Given the description of an element on the screen output the (x, y) to click on. 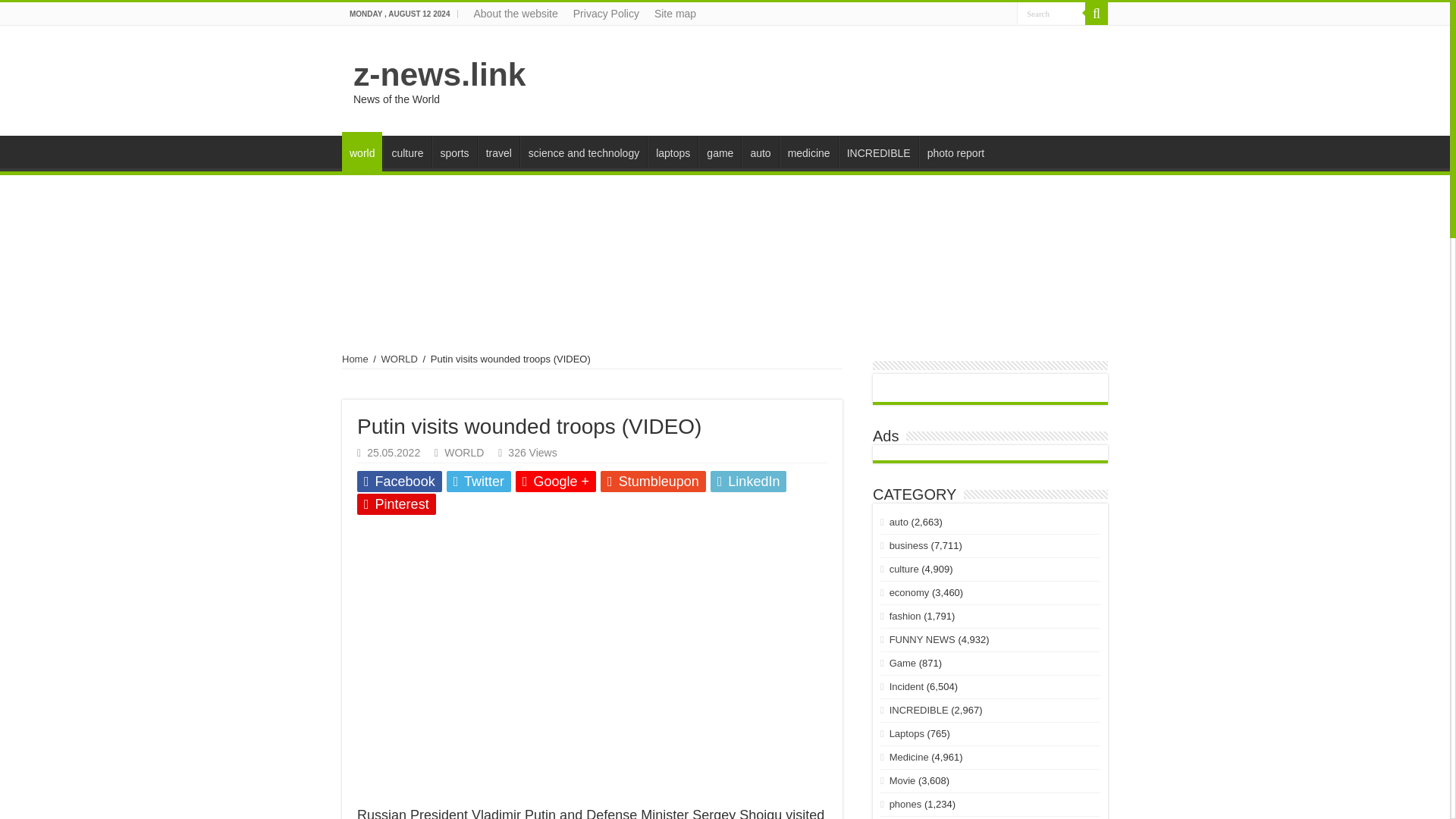
Facebook (399, 481)
LinkedIn (748, 481)
Home (355, 358)
culture (406, 151)
world (361, 151)
Site map (674, 13)
laptops (672, 151)
Pinterest (395, 504)
About the website (514, 13)
INCREDIBLE (878, 151)
